Given the description of an element on the screen output the (x, y) to click on. 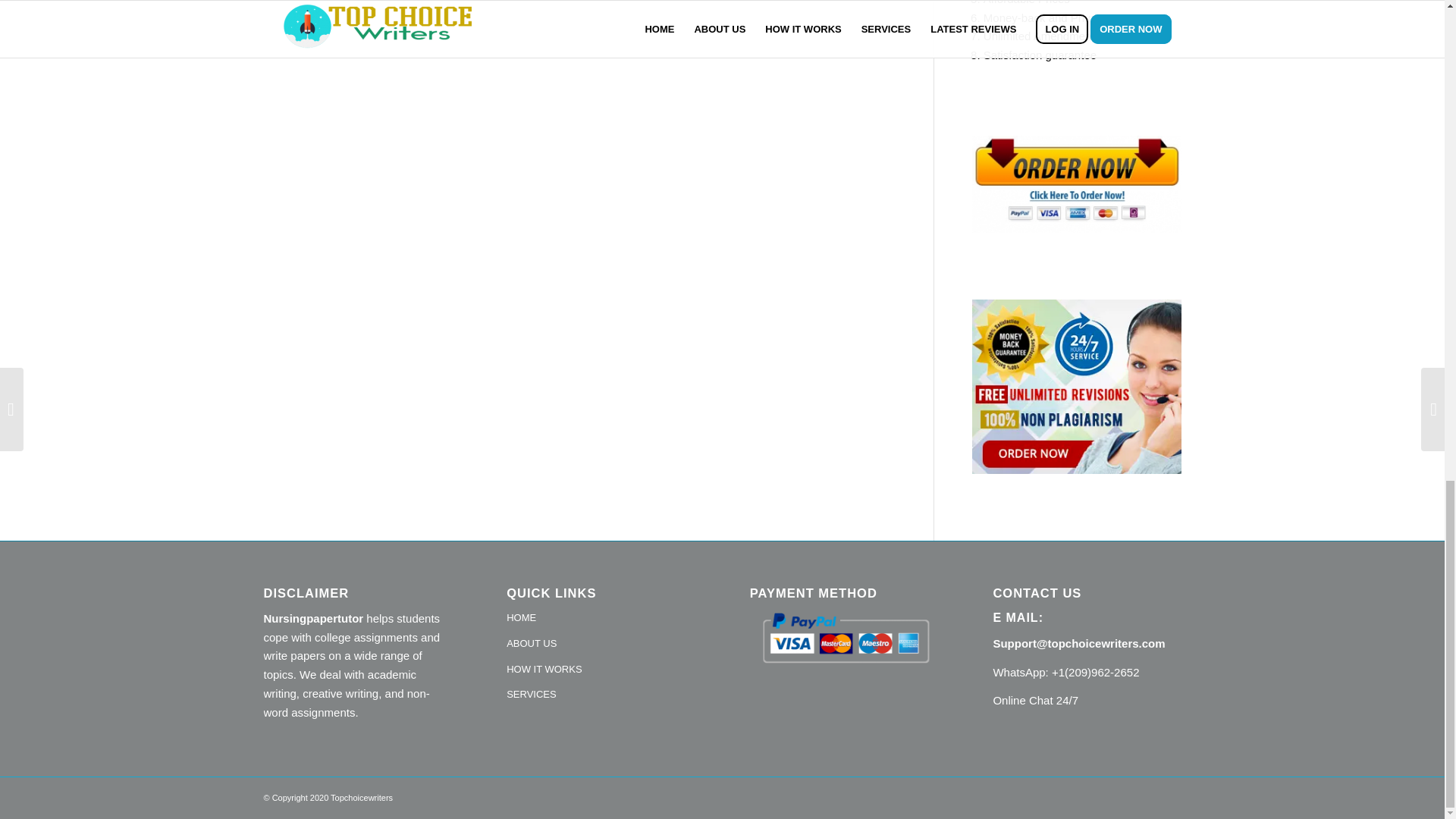
SERVICES (600, 695)
HOW IT WORKS (600, 670)
HOME (600, 618)
ABOUT US (600, 644)
